Given the description of an element on the screen output the (x, y) to click on. 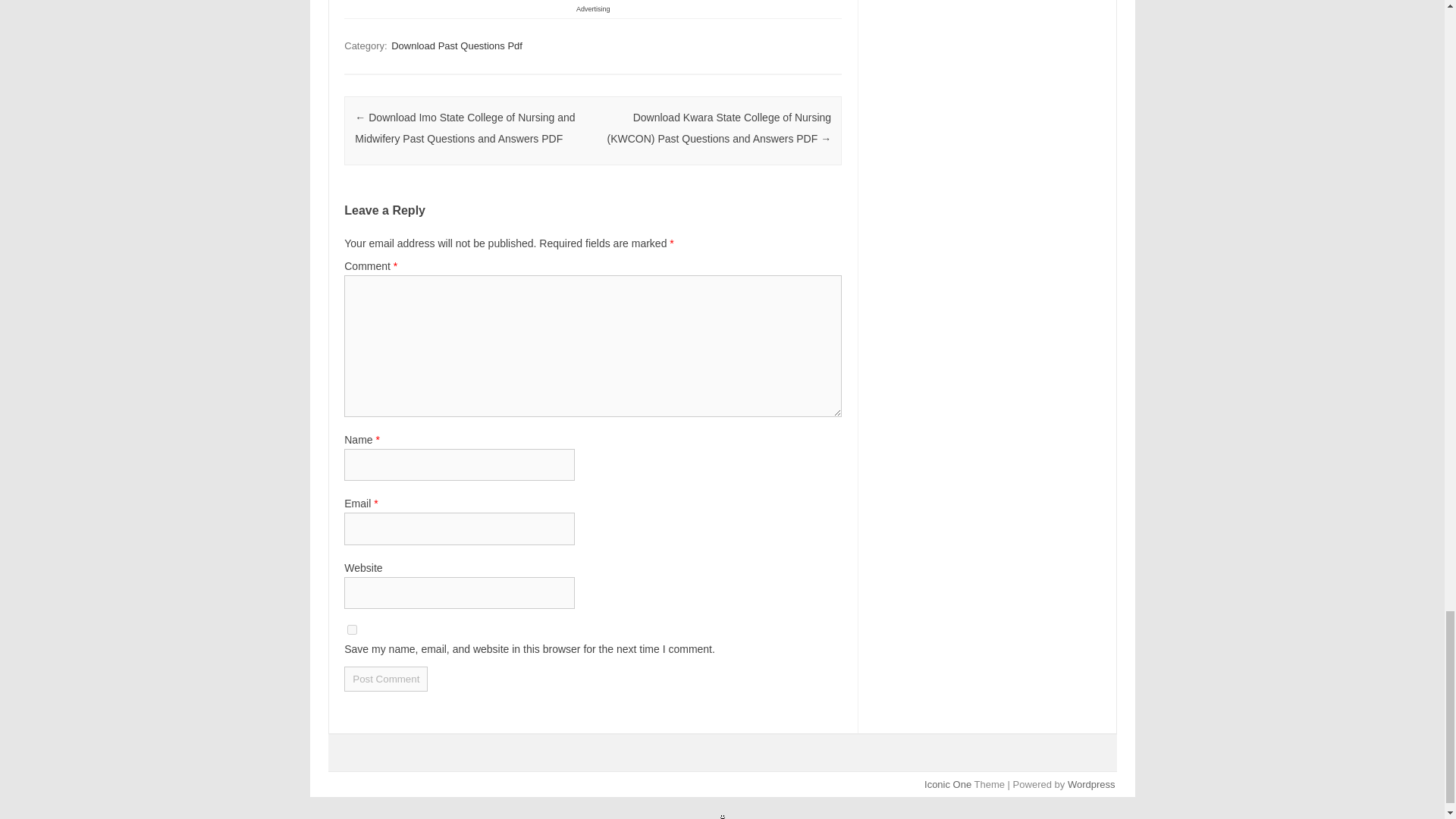
Post Comment (385, 678)
Iconic One (947, 784)
Wordpress (1091, 784)
Post Comment (385, 678)
Download Past Questions Pdf (457, 45)
yes (351, 629)
